Given the description of an element on the screen output the (x, y) to click on. 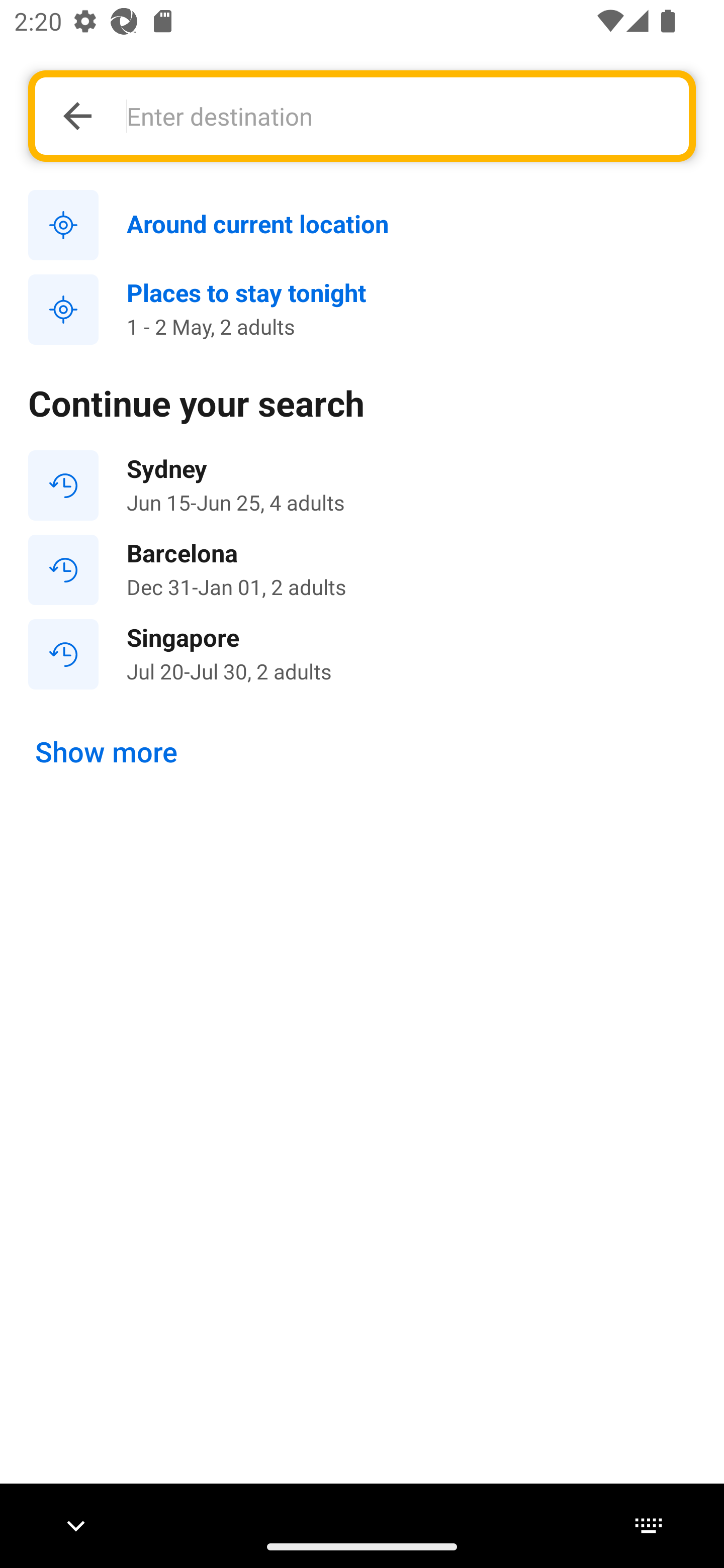
Enter destination (396, 115)
Around current location (362, 225)
Places to stay tonight 1 - 2 May, 2 adults (362, 309)
Sydney Jun 15-Jun 25, 4 adults  (362, 485)
Barcelona Dec 31-Jan 01, 2 adults  (362, 569)
Singapore Jul 20-Jul 30, 2 adults  (362, 653)
Show more (106, 752)
